Given the description of an element on the screen output the (x, y) to click on. 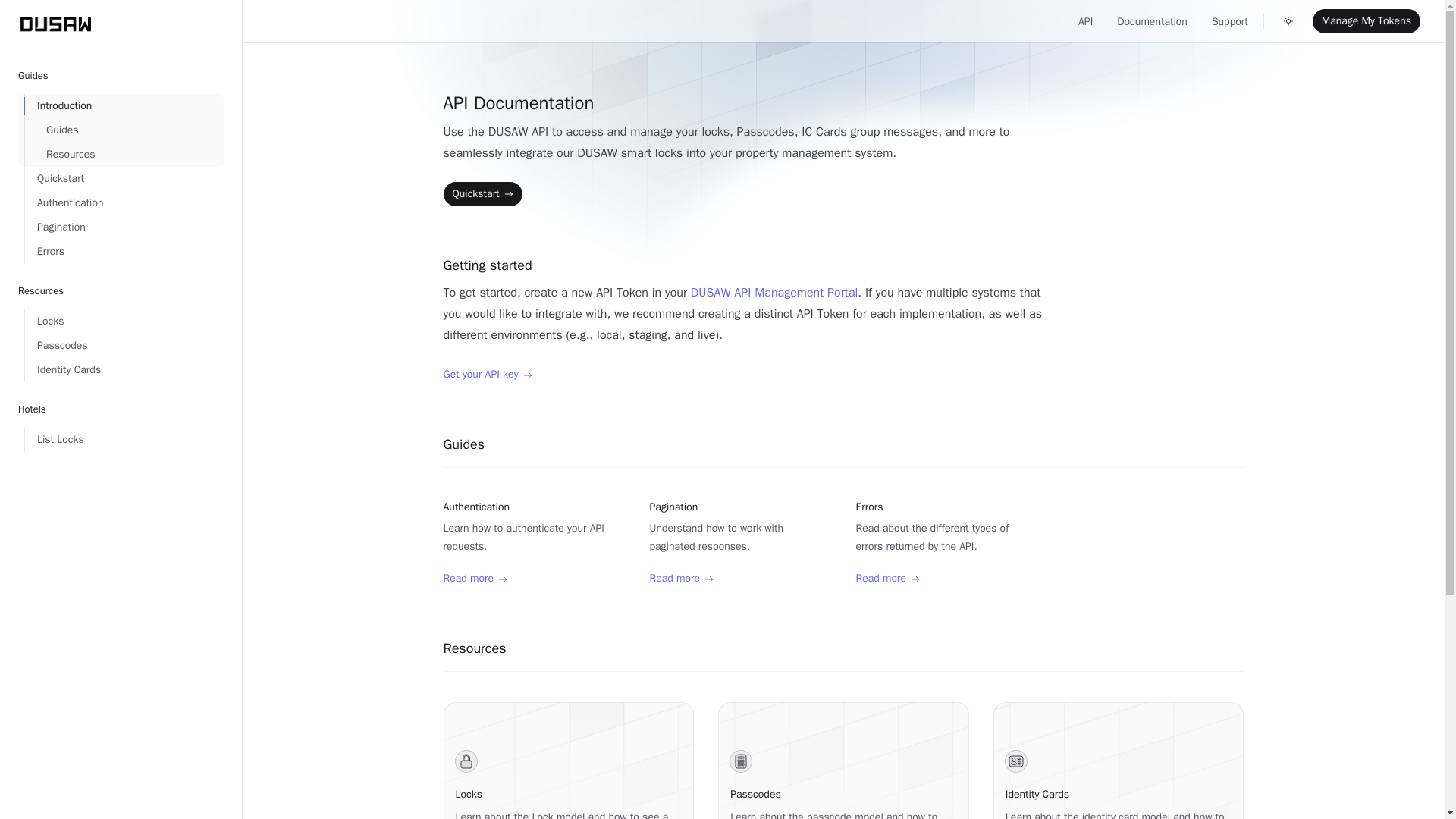
Passcodes (755, 793)
API (1085, 21)
Passcodes (124, 345)
Locks (124, 321)
Getting started (745, 265)
Read more (681, 578)
Authentication (124, 202)
Identity Cards (1037, 793)
Support (1229, 21)
Guides (842, 444)
